Given the description of an element on the screen output the (x, y) to click on. 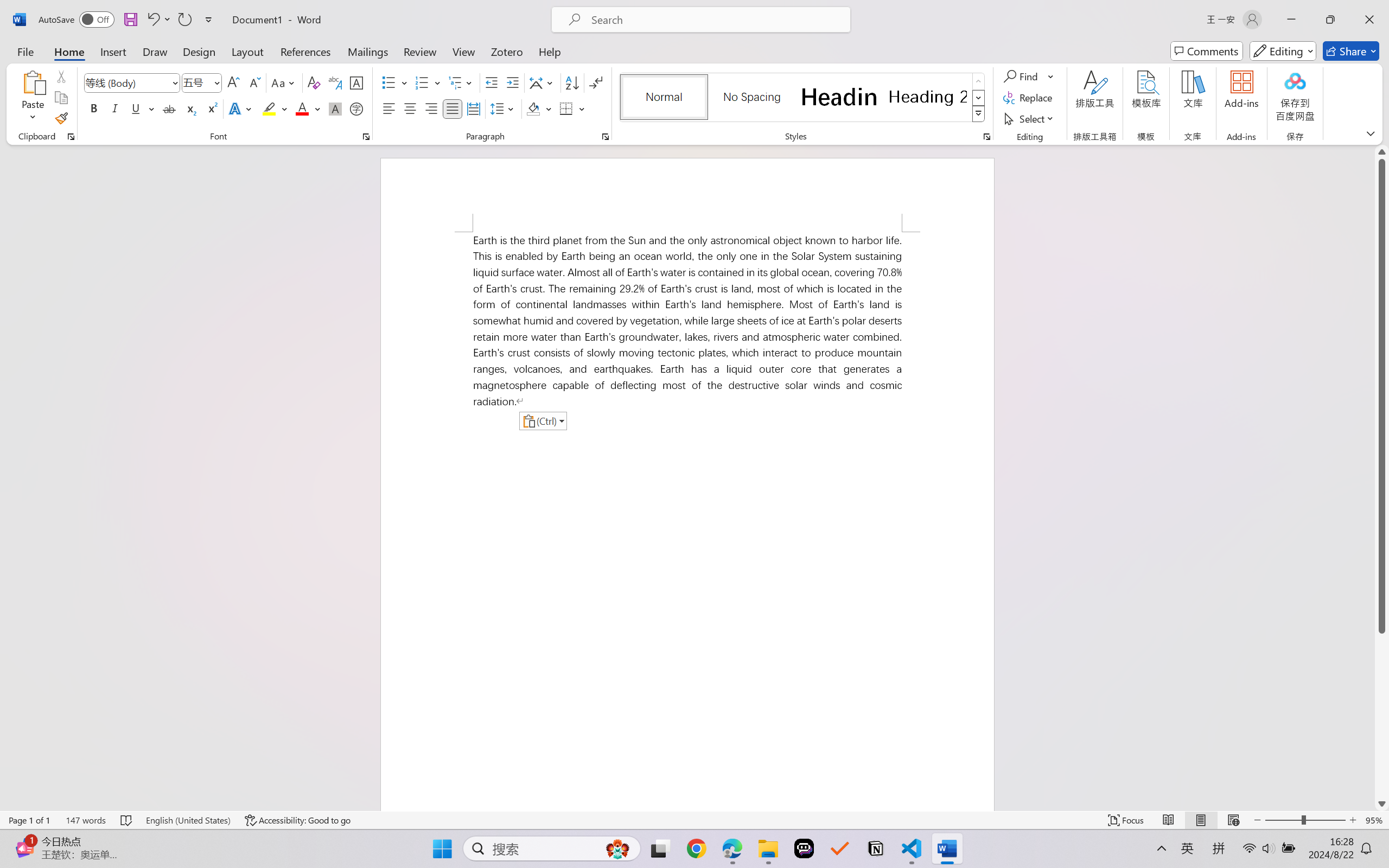
Help (549, 51)
Action: Paste alternatives (542, 420)
Grow Font (233, 82)
Page Number Page 1 of 1 (29, 819)
Strikethrough (169, 108)
Asian Layout (542, 82)
